Given the description of an element on the screen output the (x, y) to click on. 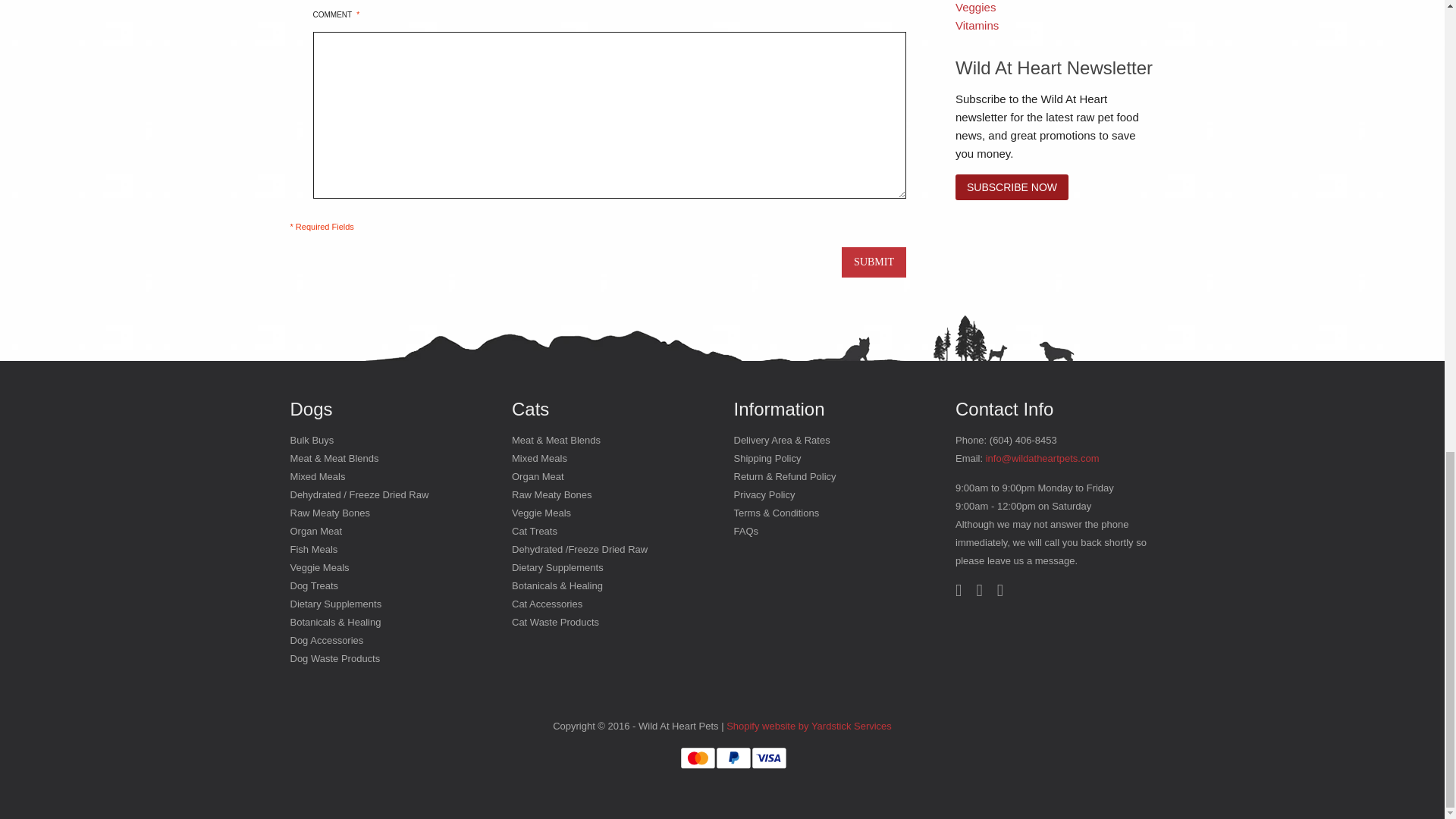
PayPal (733, 757)
Mastercard (697, 757)
Visa (769, 757)
Comment (609, 115)
